Given the description of an element on the screen output the (x, y) to click on. 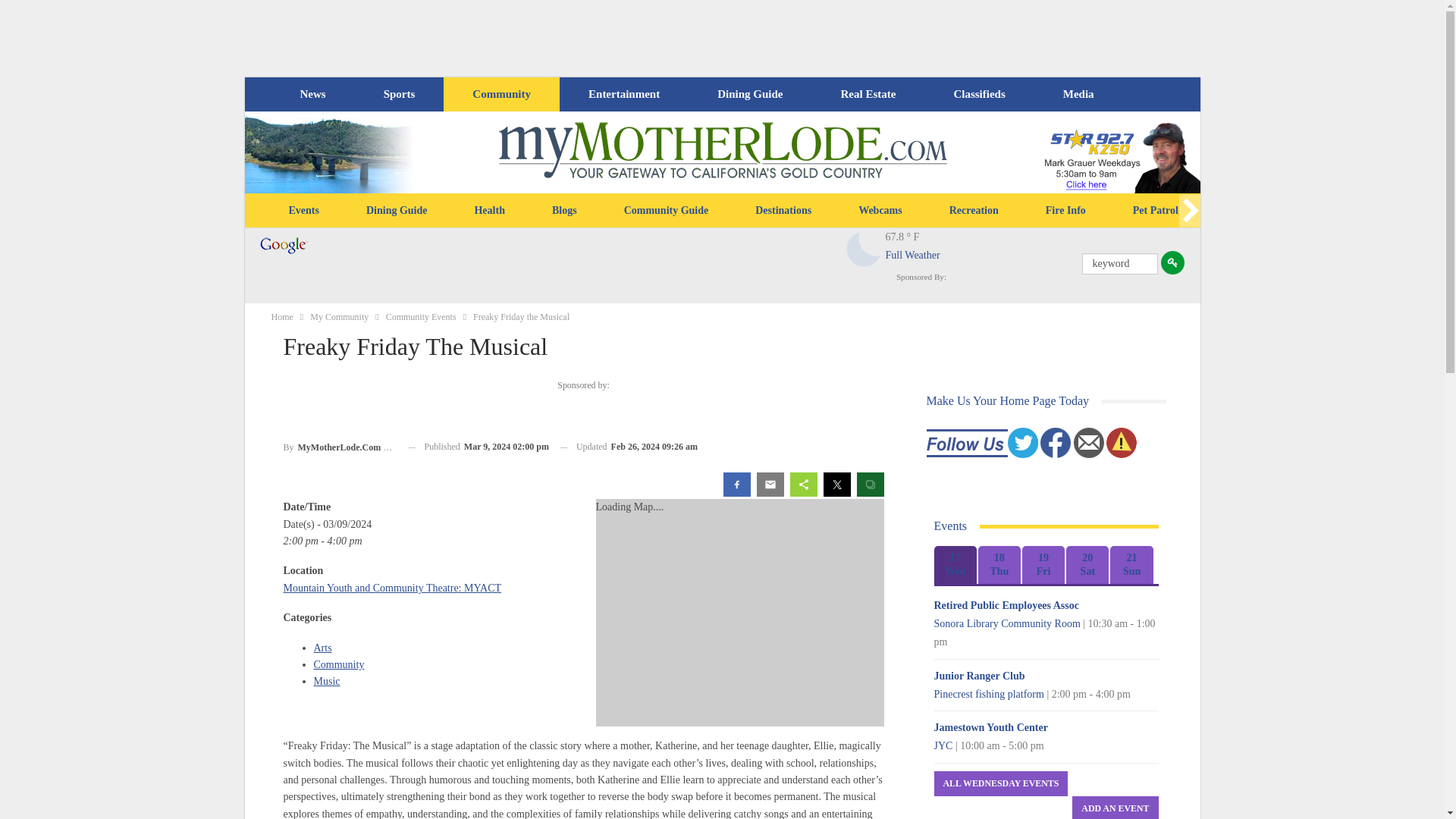
Real Estate (868, 93)
News (312, 93)
Blogs (563, 210)
keyword (1119, 263)
Destinations (783, 210)
Pet Patrol (1155, 210)
Dining Guide (397, 210)
Classifieds (979, 93)
Health (488, 210)
Events (303, 210)
All Wednesday Events (1001, 783)
Browse Author Articles (340, 446)
Entertainment (624, 93)
